Given the description of an element on the screen output the (x, y) to click on. 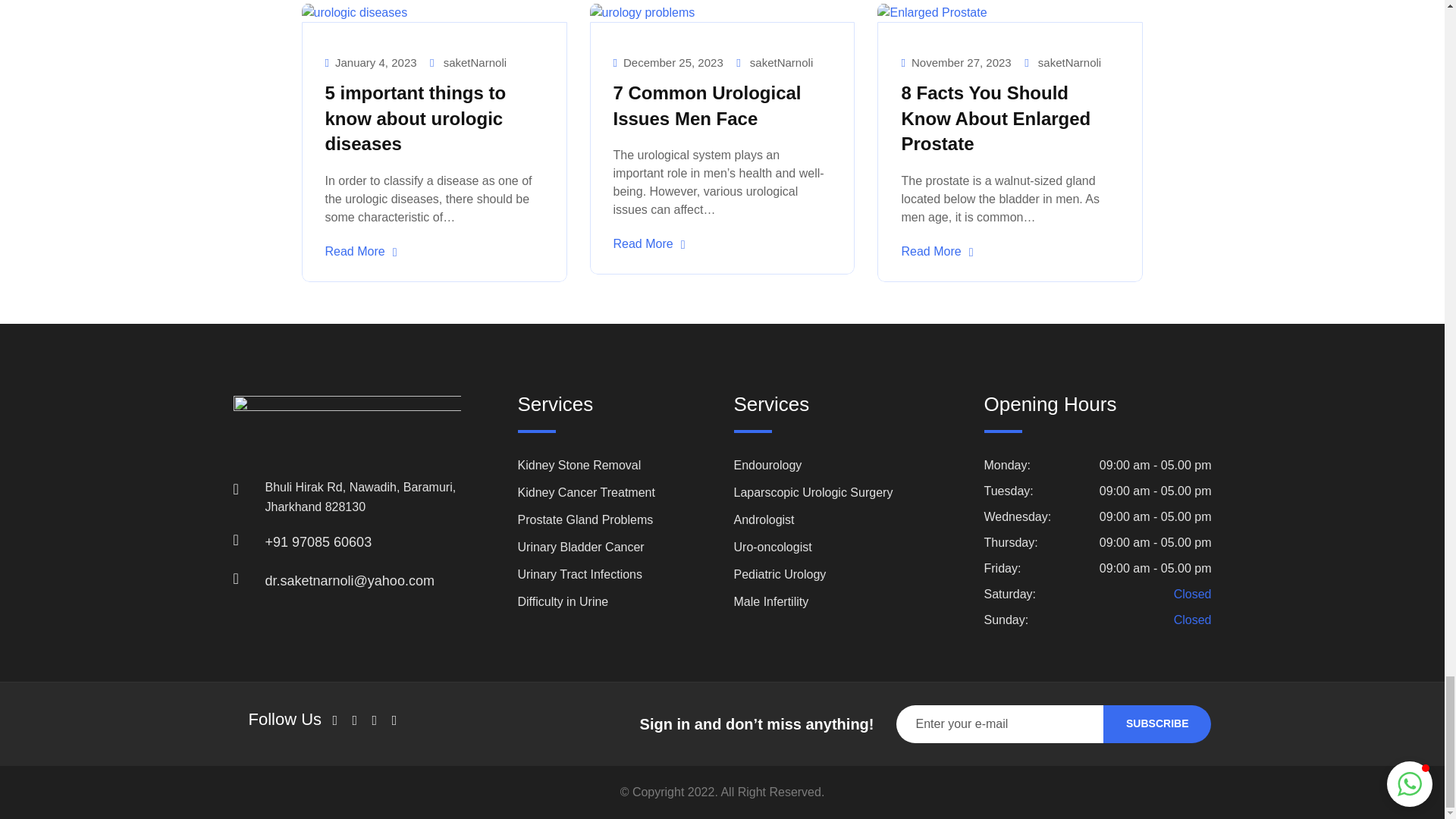
SUBSCRIBE (1157, 723)
Posts by saketNarnoli (780, 62)
Posts by saketNarnoli (475, 62)
Posts by saketNarnoli (1069, 62)
